Given the description of an element on the screen output the (x, y) to click on. 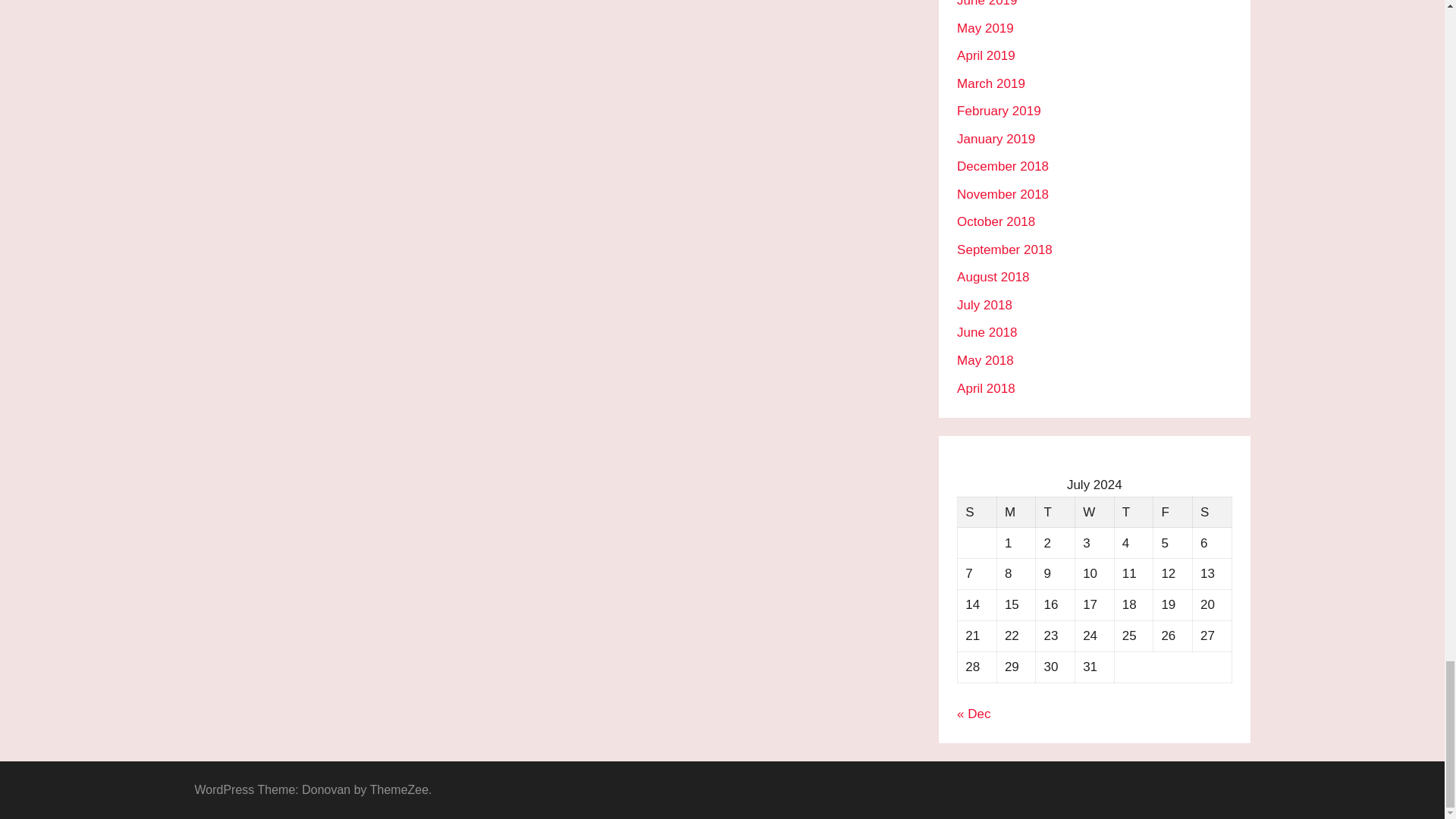
Thursday (1133, 511)
Friday (1172, 511)
Sunday (977, 511)
Saturday (1211, 511)
Monday (1015, 511)
Tuesday (1055, 511)
Wednesday (1093, 511)
